Given the description of an element on the screen output the (x, y) to click on. 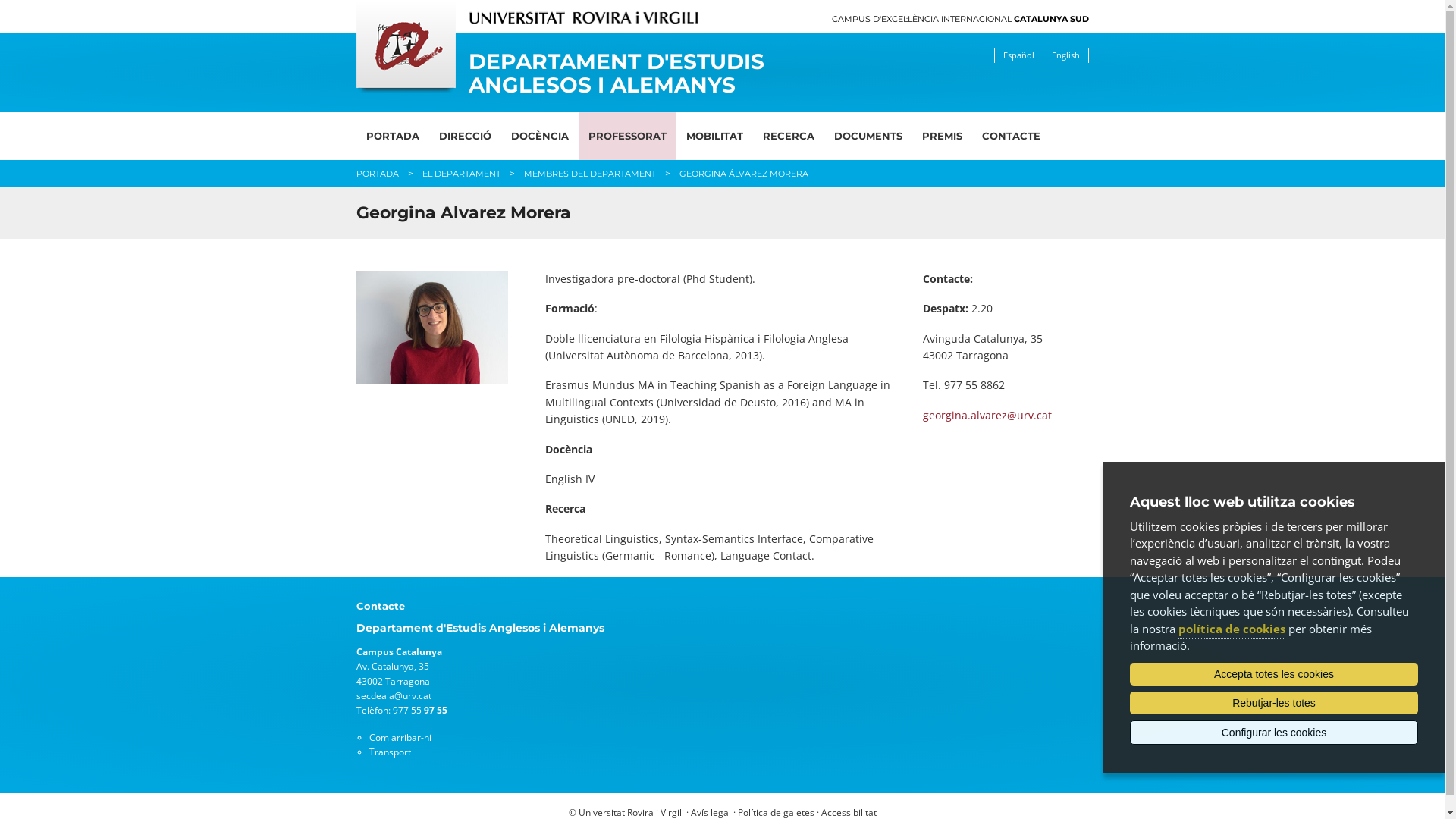
CONTACTE Element type: text (1011, 136)
EL DEPARTAMENT Element type: text (460, 173)
PORTADA Element type: text (377, 173)
RECERCA Element type: text (787, 136)
English Element type: text (1065, 54)
Rebutjar-les totes Element type: text (1273, 702)
Configurar les cookies Element type: text (1273, 732)
Transport Element type: text (389, 751)
DEPARTAMENT D'ESTUDIS ANGLESOS I ALEMANYS Element type: text (628, 73)
Accepta totes les cookies Element type: text (1273, 673)
MEMBRES DEL DEPARTAMENT Element type: text (589, 173)
DOCUMENTS Element type: text (867, 136)
PROFESSORAT Element type: text (626, 136)
Com arribar-hi Element type: text (399, 737)
PORTADA Element type: text (392, 136)
secdeaia@urv.cat Element type: text (393, 695)
MOBILITAT Element type: text (714, 136)
georgina.alvarez@urv.cat Element type: text (986, 414)
PREMIS Element type: text (941, 136)
